Given the description of an element on the screen output the (x, y) to click on. 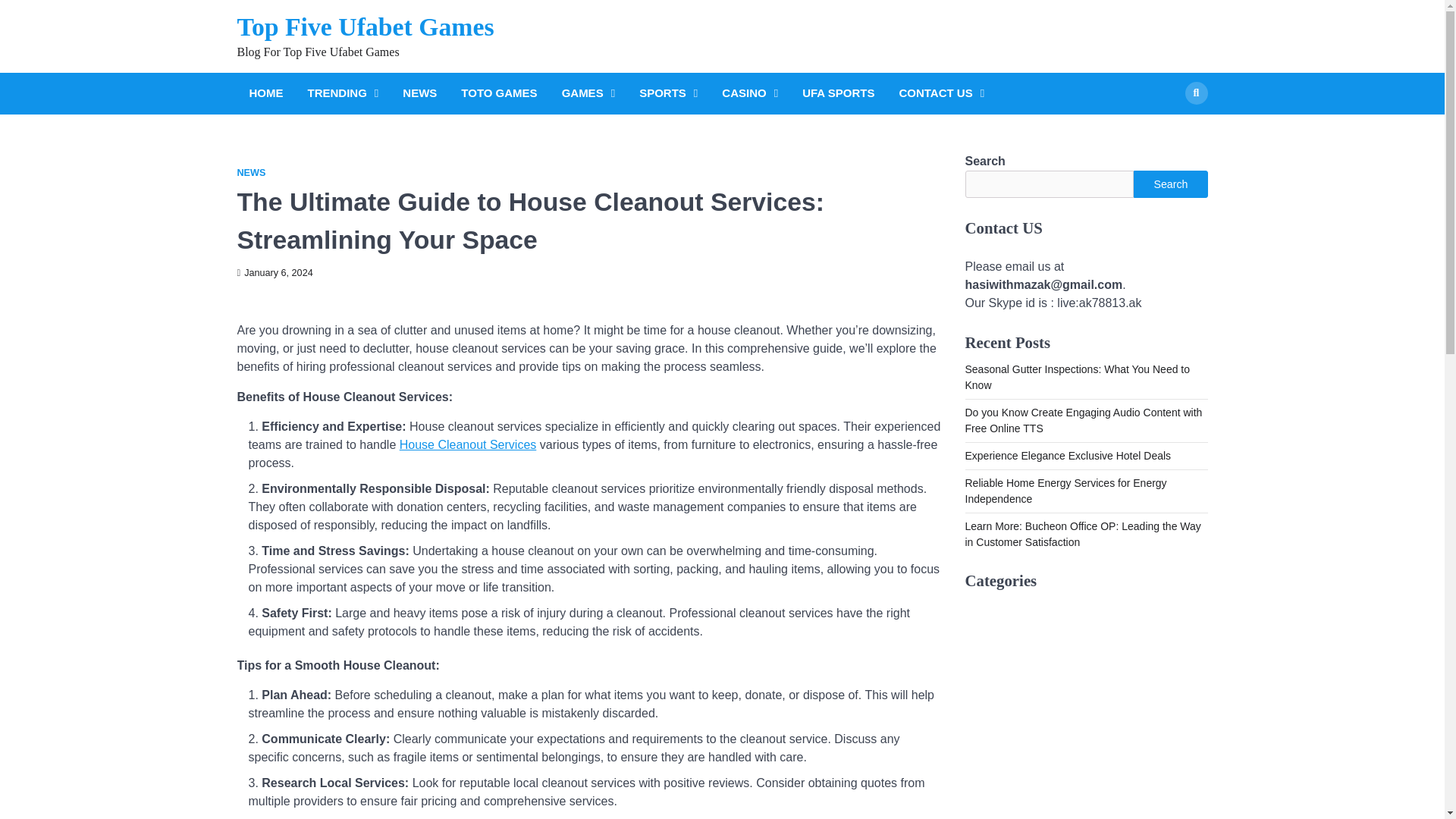
SPORTS (668, 93)
TRENDING (343, 93)
NEWS (249, 173)
CONTACT US (941, 93)
Seasonal Gutter Inspections: What You Need to Know (1076, 377)
HOME (265, 93)
House Cleanout Services (467, 444)
GAMES (588, 93)
Search (1168, 128)
January 6, 2024 (274, 272)
Search (1170, 184)
Top Five Ufabet Games (364, 26)
NEWS (419, 93)
CASINO (750, 93)
